Given the description of an element on the screen output the (x, y) to click on. 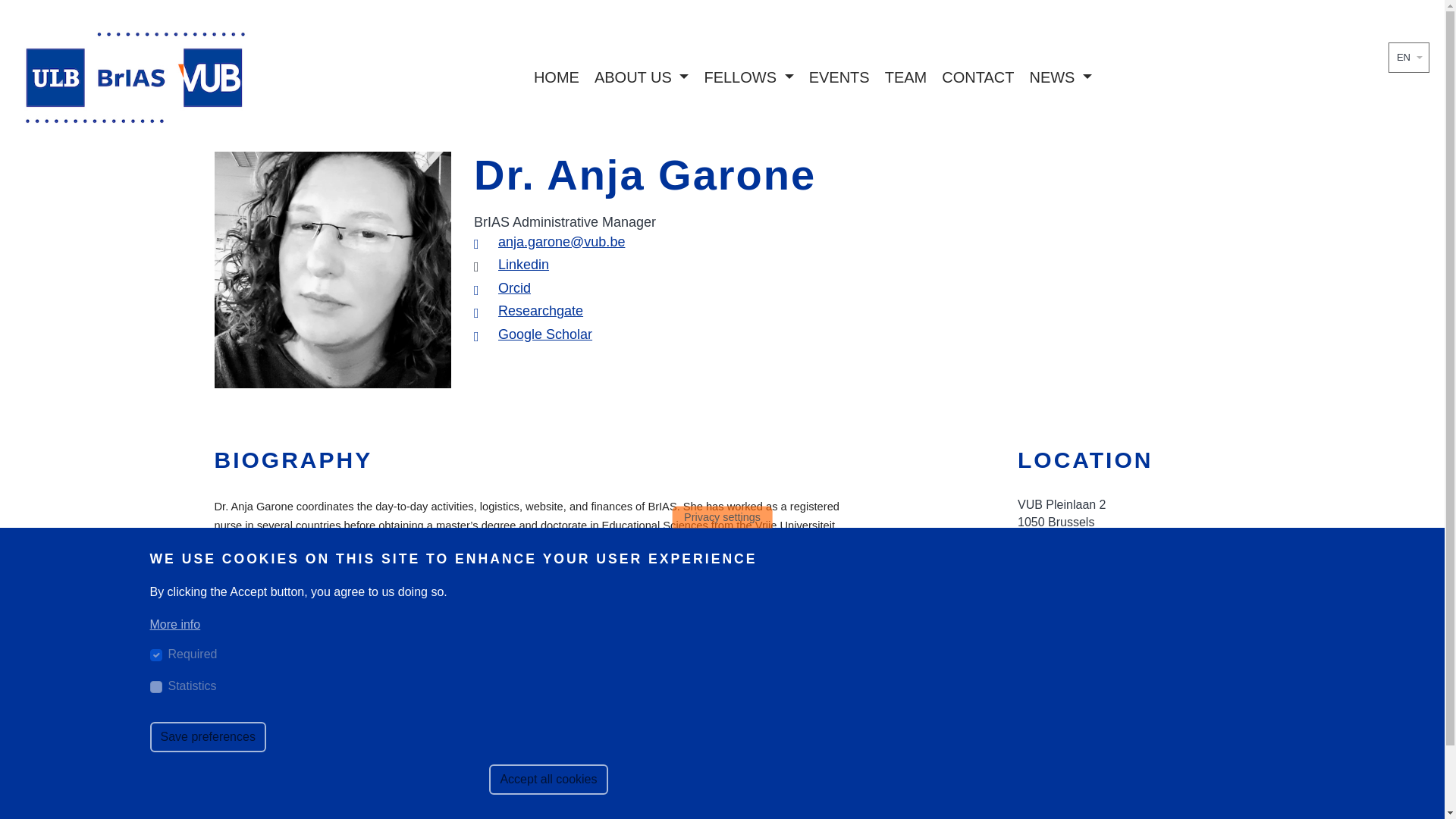
FELLOWS (748, 76)
Vrije Universiteit Brussel (1045, 721)
Orcid (514, 287)
Save preferences (207, 736)
TEAM (906, 76)
statistics (155, 686)
Other languages (1418, 57)
required (155, 654)
Google Scholar (544, 334)
